Given the description of an element on the screen output the (x, y) to click on. 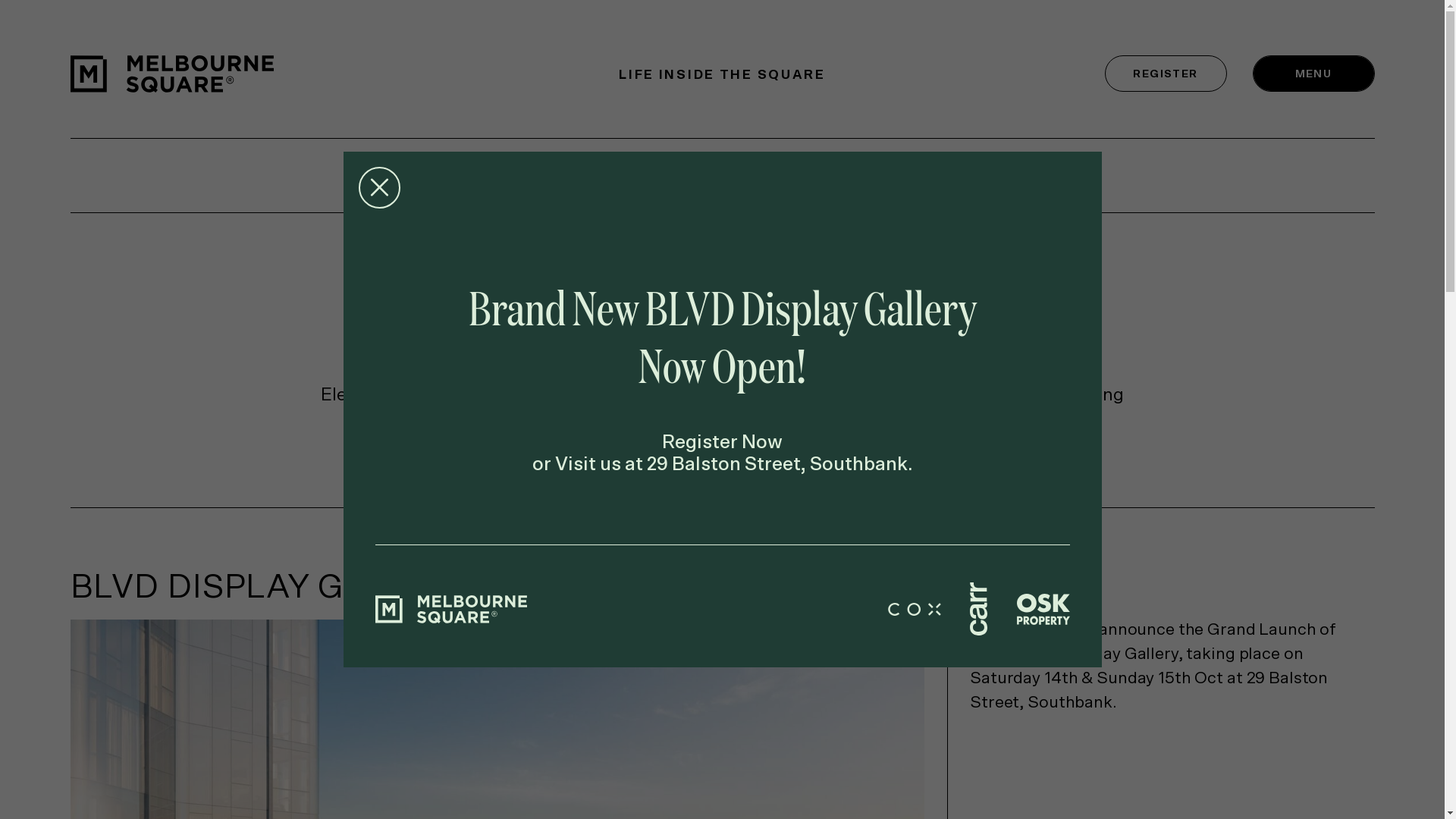
NEWS Element type: text (938, 176)
Skip to content Element type: text (0, 0)
ALL NEWS Element type: text (527, 176)
COMMUNITY Element type: text (682, 176)
REGISTER Element type: text (1165, 73)
MENU Element type: text (1313, 73)
EVENTS Element type: text (826, 176)
